Given the description of an element on the screen output the (x, y) to click on. 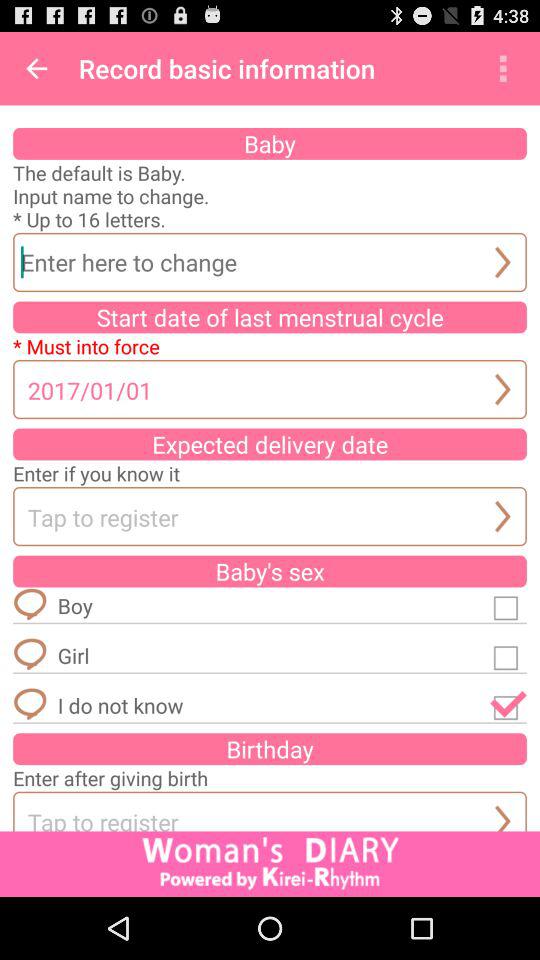
input name (269, 261)
